Given the description of an element on the screen output the (x, y) to click on. 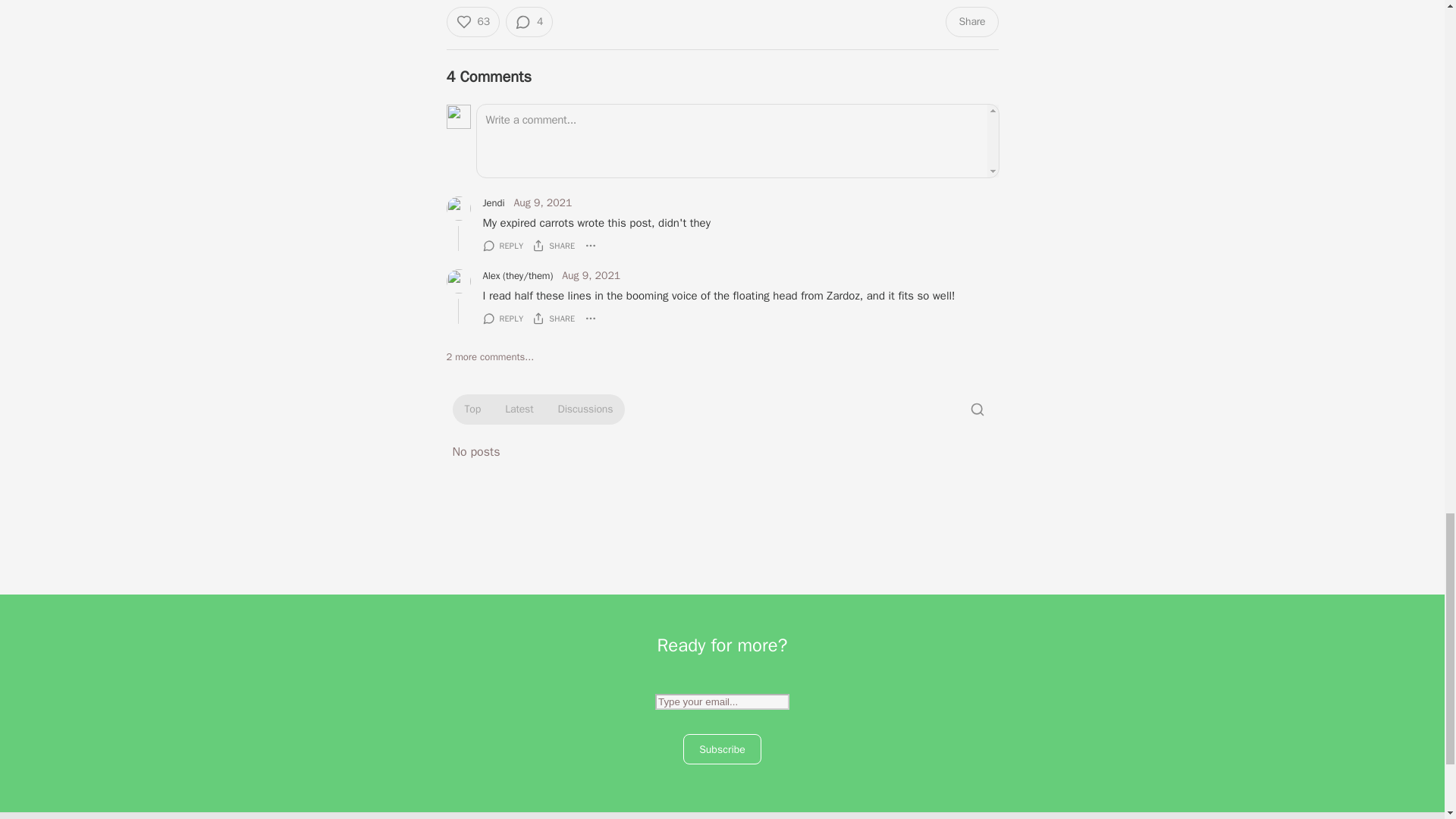
REPLY (501, 245)
Aug 9, 2021 (542, 202)
63 (472, 21)
Jendi (492, 202)
Share (970, 21)
SHARE (553, 245)
4 (529, 21)
